Given the description of an element on the screen output the (x, y) to click on. 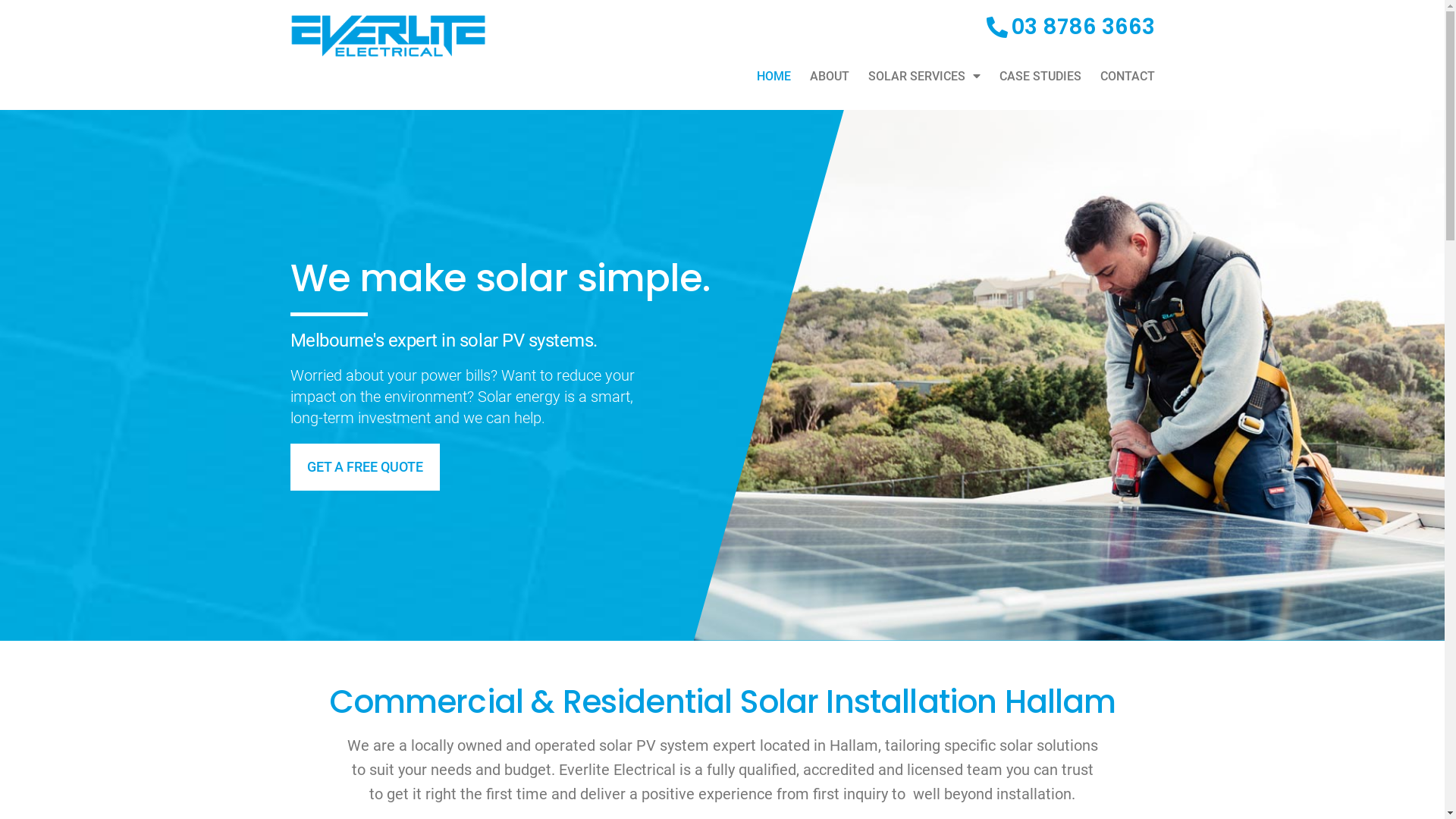
CASE STUDIES Element type: text (1040, 75)
GET A FREE QUOTE Element type: text (364, 466)
03 8786 3663 Element type: text (1069, 27)
SOLAR SERVICES Element type: text (923, 75)
CONTACT Element type: text (1126, 75)
HOME Element type: text (773, 75)
ABOUT Element type: text (829, 75)
